Given the description of an element on the screen output the (x, y) to click on. 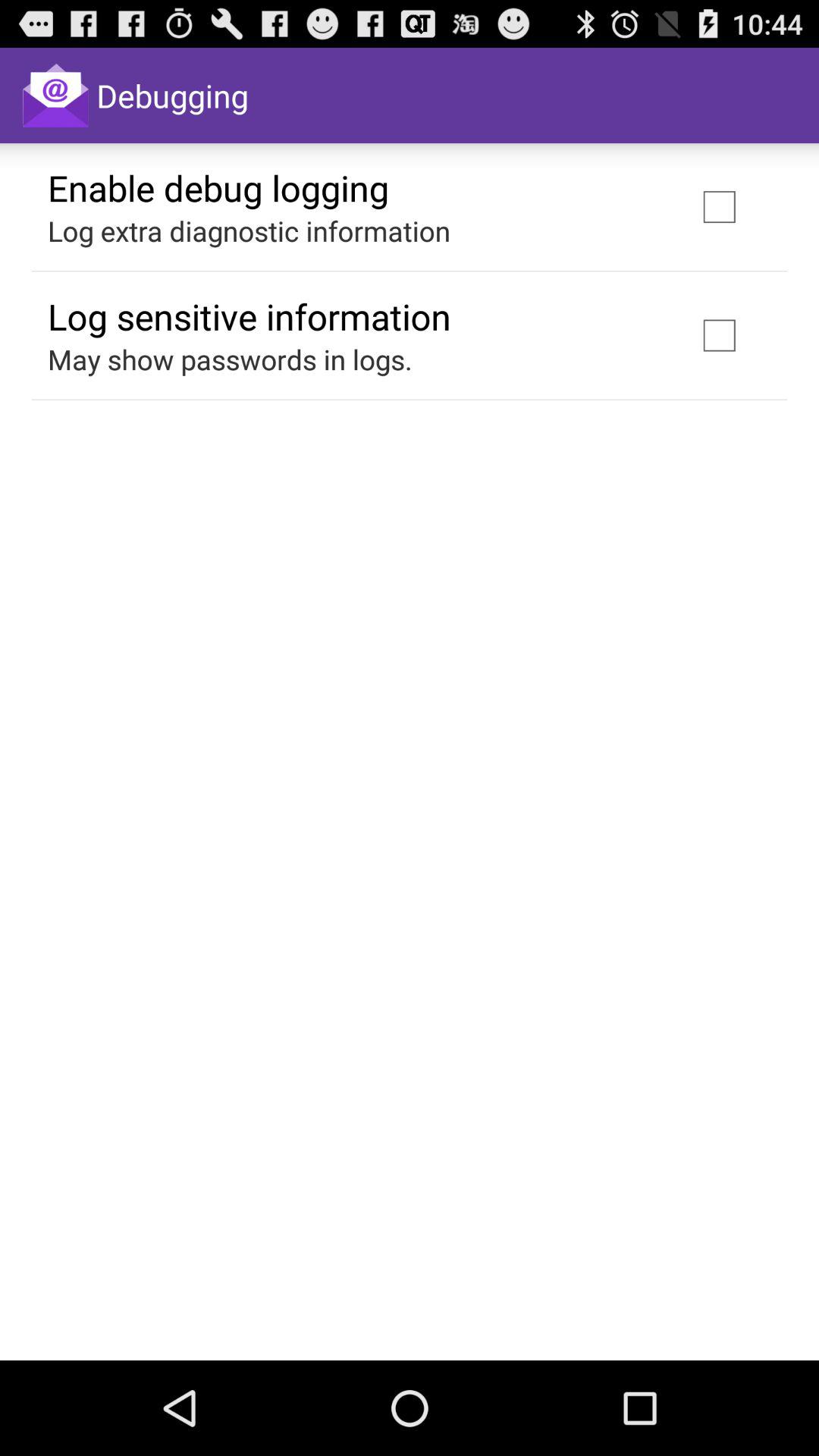
flip to the log extra diagnostic item (248, 230)
